Given the description of an element on the screen output the (x, y) to click on. 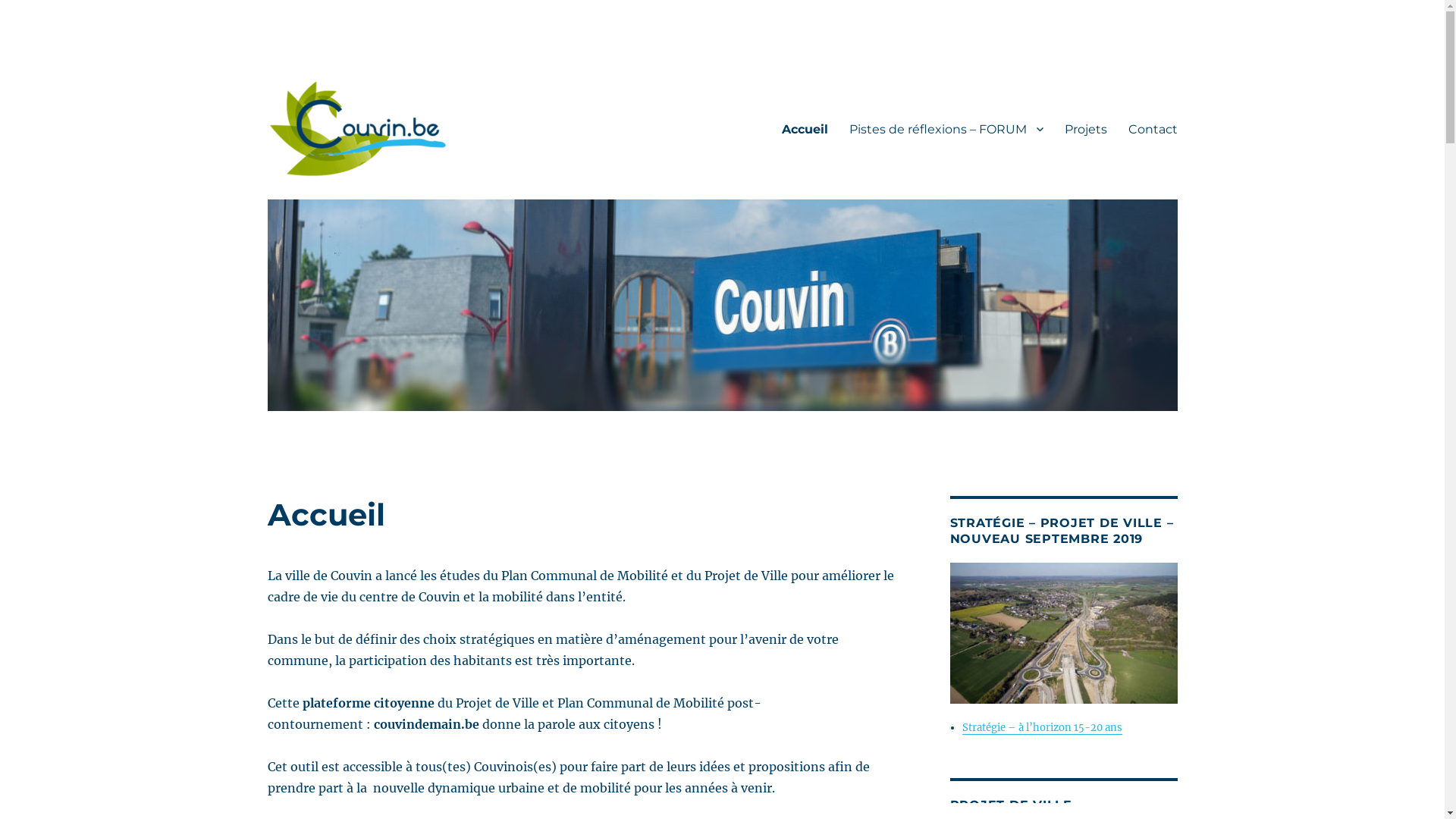
Projets Element type: text (1085, 128)
Accueil Element type: text (803, 128)
Contact Element type: text (1152, 128)
Couvin Demain Element type: text (351, 201)
